Given the description of an element on the screen output the (x, y) to click on. 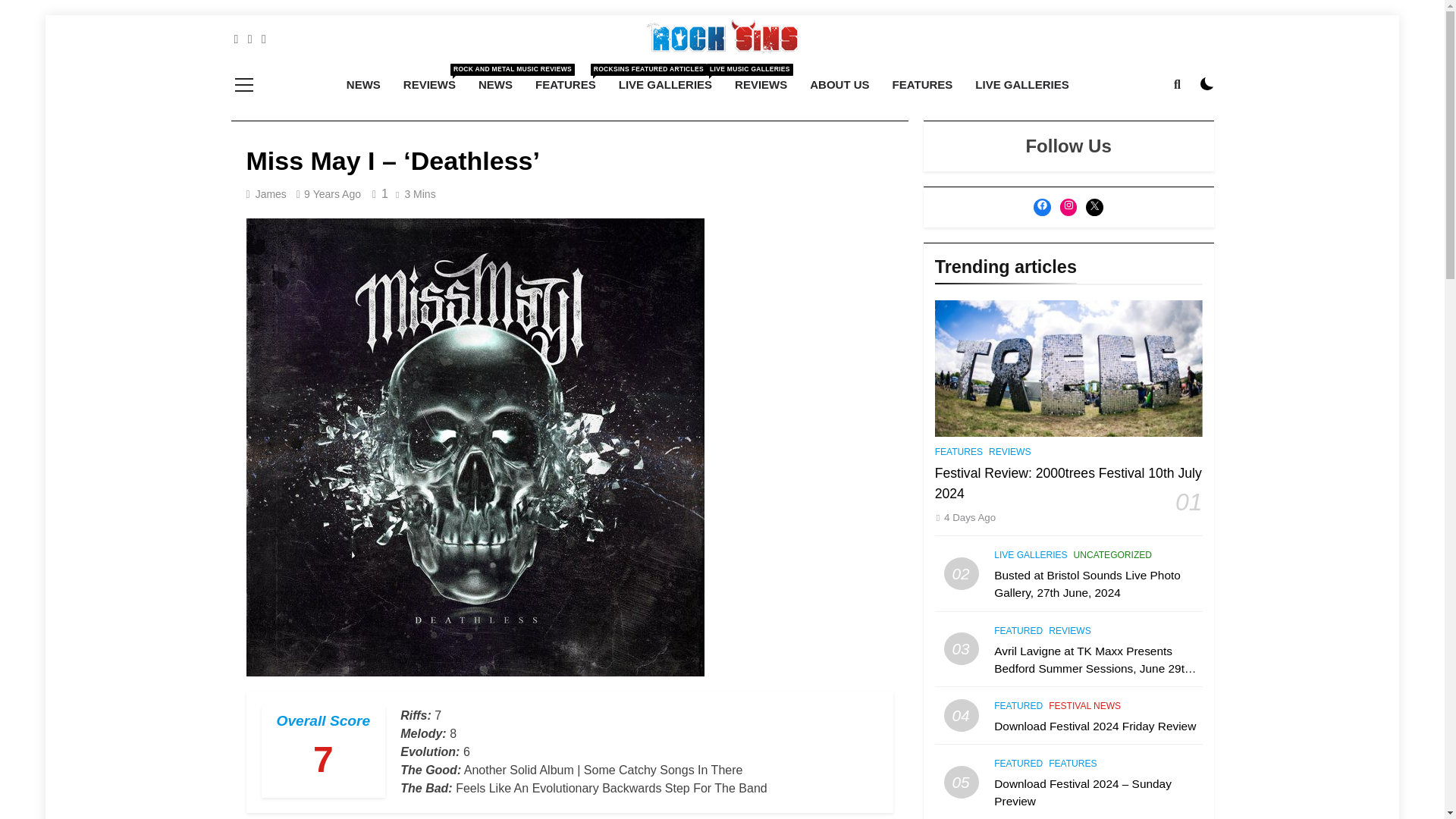
ABOUT US (838, 84)
James (271, 193)
NEWS (362, 84)
REVIEWS (760, 84)
NEWS (495, 84)
Skip to content (565, 84)
Rock Sins (665, 84)
LIVE GALLERIES (429, 84)
9 Years Ago (553, 75)
FEATURES (1206, 83)
1 (1021, 84)
